Given the description of an element on the screen output the (x, y) to click on. 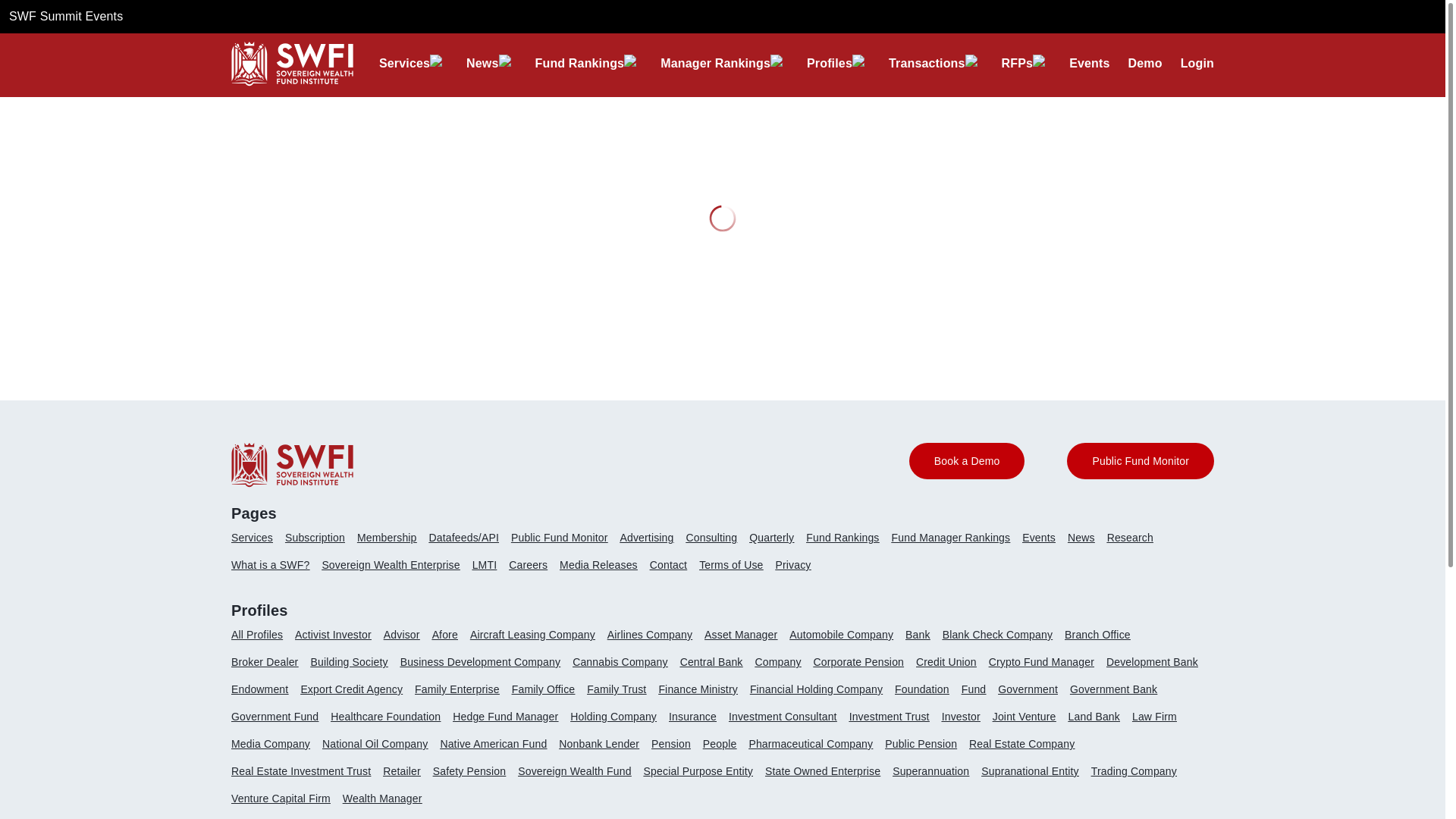
News (481, 63)
Services (403, 63)
Manager Rankings (715, 63)
Fund Rankings (579, 63)
SWF Summit Events (65, 15)
